Given the description of an element on the screen output the (x, y) to click on. 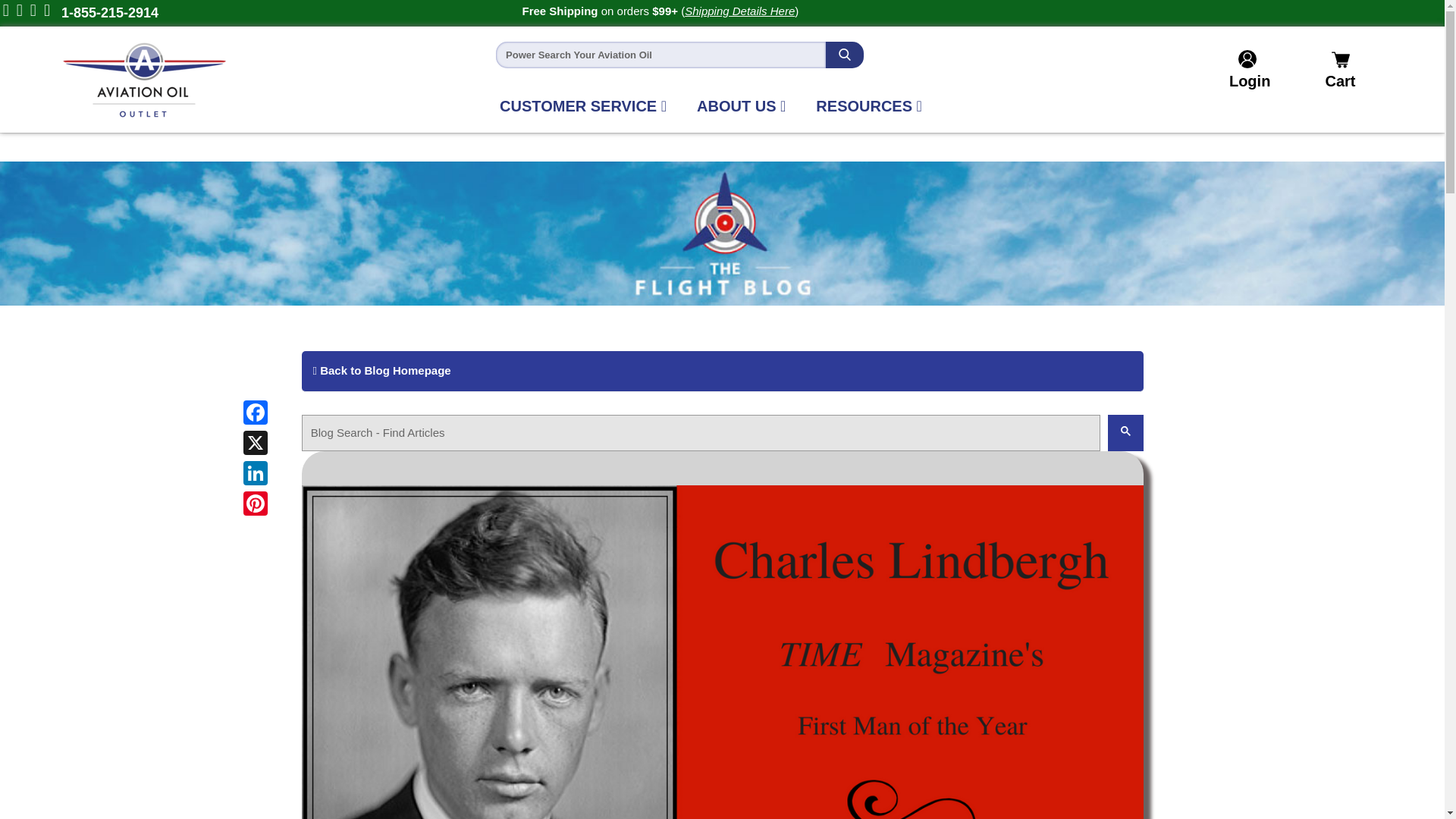
Shipping Details Here (739, 10)
Cart (1330, 69)
CUSTOMER SERVICE (582, 105)
ABOUT US (741, 105)
Search (844, 53)
search (1126, 430)
RESOURCES (869, 105)
login (1247, 80)
Login (1247, 80)
